Given the description of an element on the screen output the (x, y) to click on. 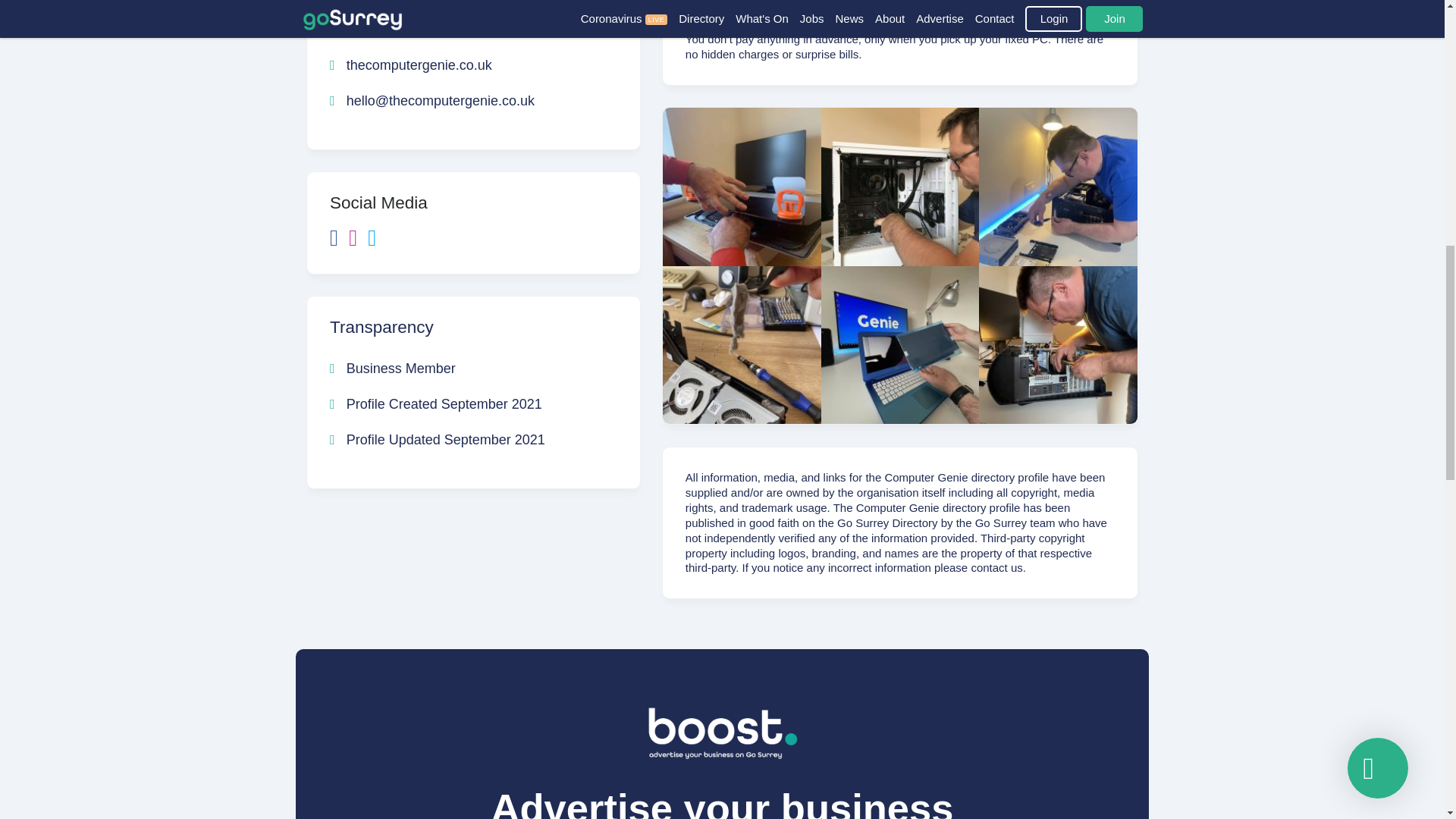
Twitter (376, 241)
Instagram (358, 241)
Facebook (339, 241)
thecomputergenie.co.uk (411, 64)
